Given the description of an element on the screen output the (x, y) to click on. 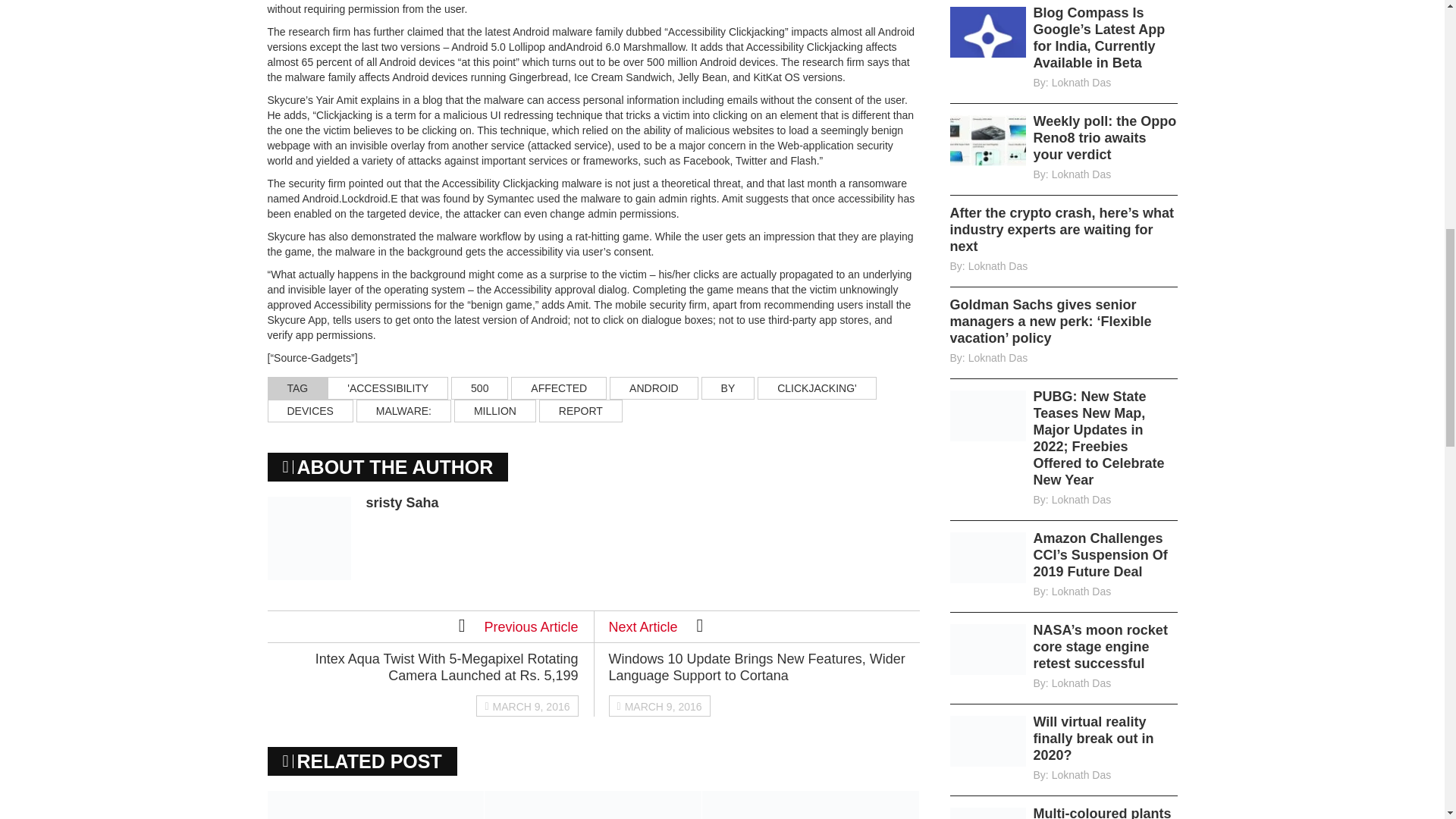
BY (728, 387)
AFFECTED (559, 387)
500 (479, 387)
'ACCESSIBILITY (387, 387)
ANDROID (654, 387)
Posts by Loknath Das (1081, 82)
MALWARE: (403, 410)
Posts by Loknath Das (1081, 499)
REPORT (580, 410)
MILLION (494, 410)
Posts by Loknath Das (1081, 174)
Posts by Loknath Das (997, 265)
Posts by Loknath Das (997, 357)
CLICKJACKING' (816, 387)
DEVICES (309, 410)
